Given the description of an element on the screen output the (x, y) to click on. 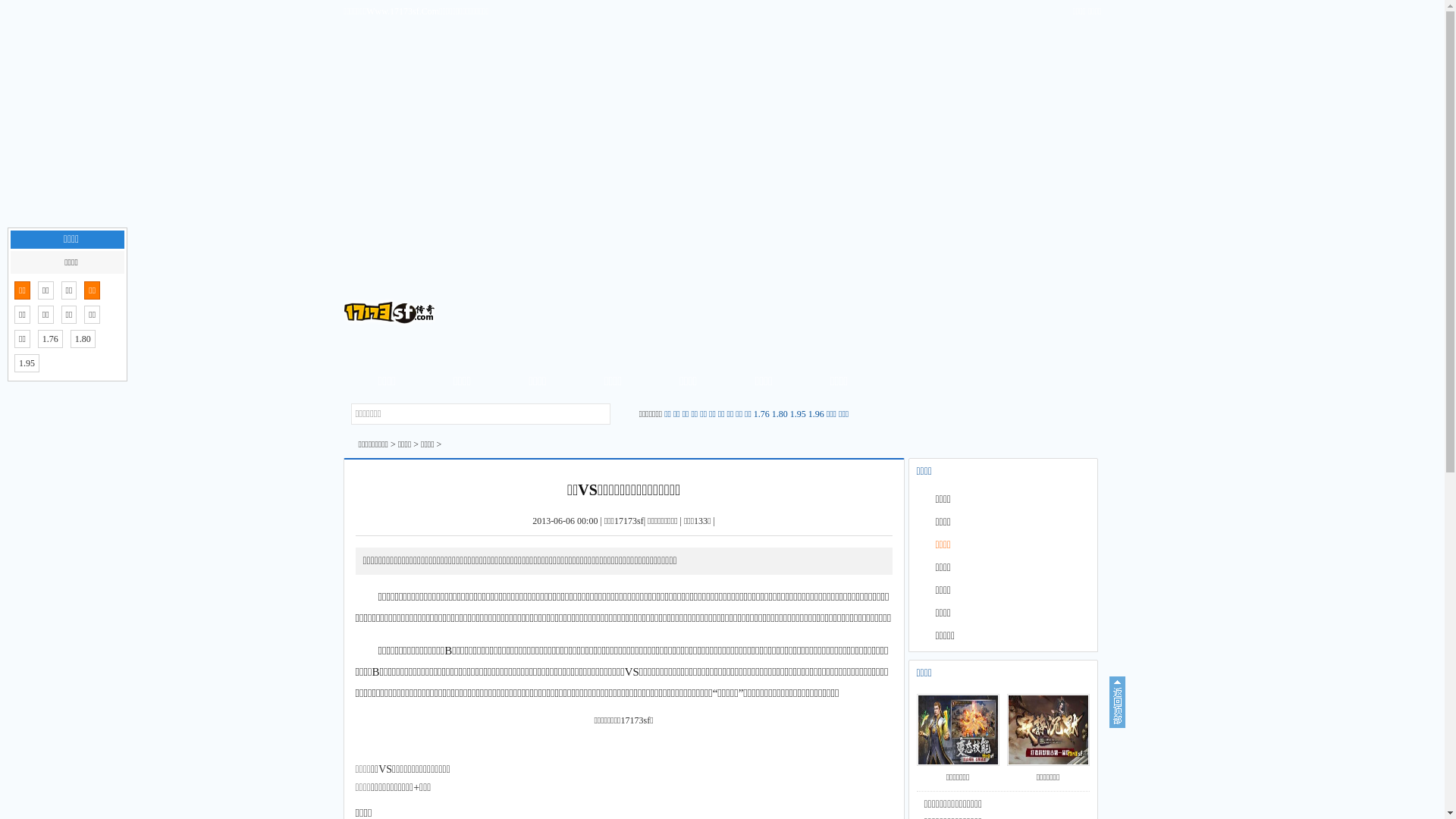
1.80 Element type: text (779, 413)
1.96 Element type: text (816, 413)
1.76 Element type: text (761, 413)
1.95 Element type: text (26, 363)
1.95 Element type: text (798, 413)
1.76 Element type: text (49, 338)
1.80 Element type: text (82, 338)
